Given the description of an element on the screen output the (x, y) to click on. 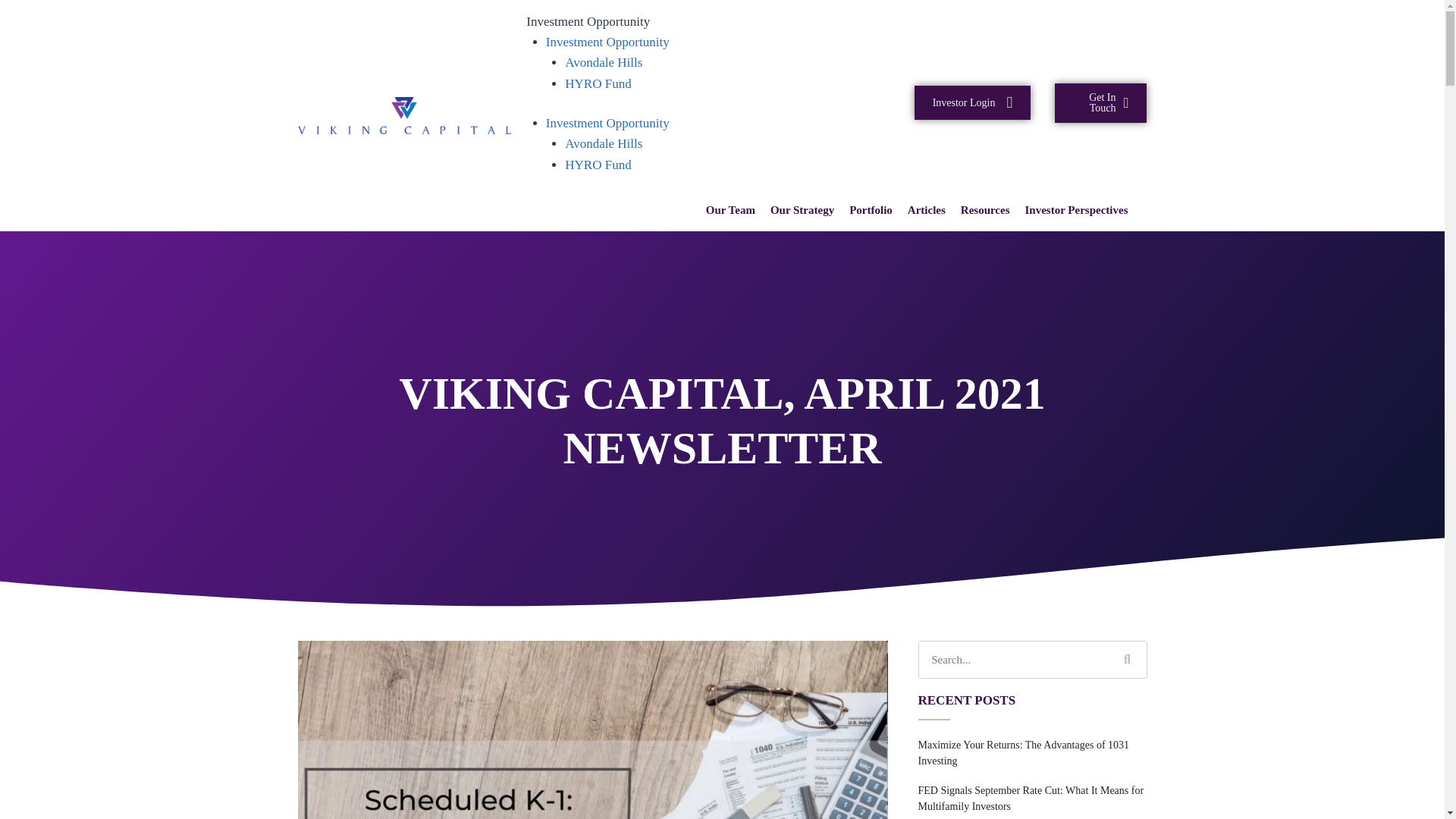
Get In Touch (1100, 102)
Resources (984, 209)
Investment Opportunity (607, 123)
Our Strategy (801, 209)
Avondale Hills (603, 143)
Investment Opportunity (607, 42)
HYRO Fund (597, 83)
Investor Perspectives (1076, 209)
Avondale Hills (603, 62)
HYRO Fund (597, 164)
